Given the description of an element on the screen output the (x, y) to click on. 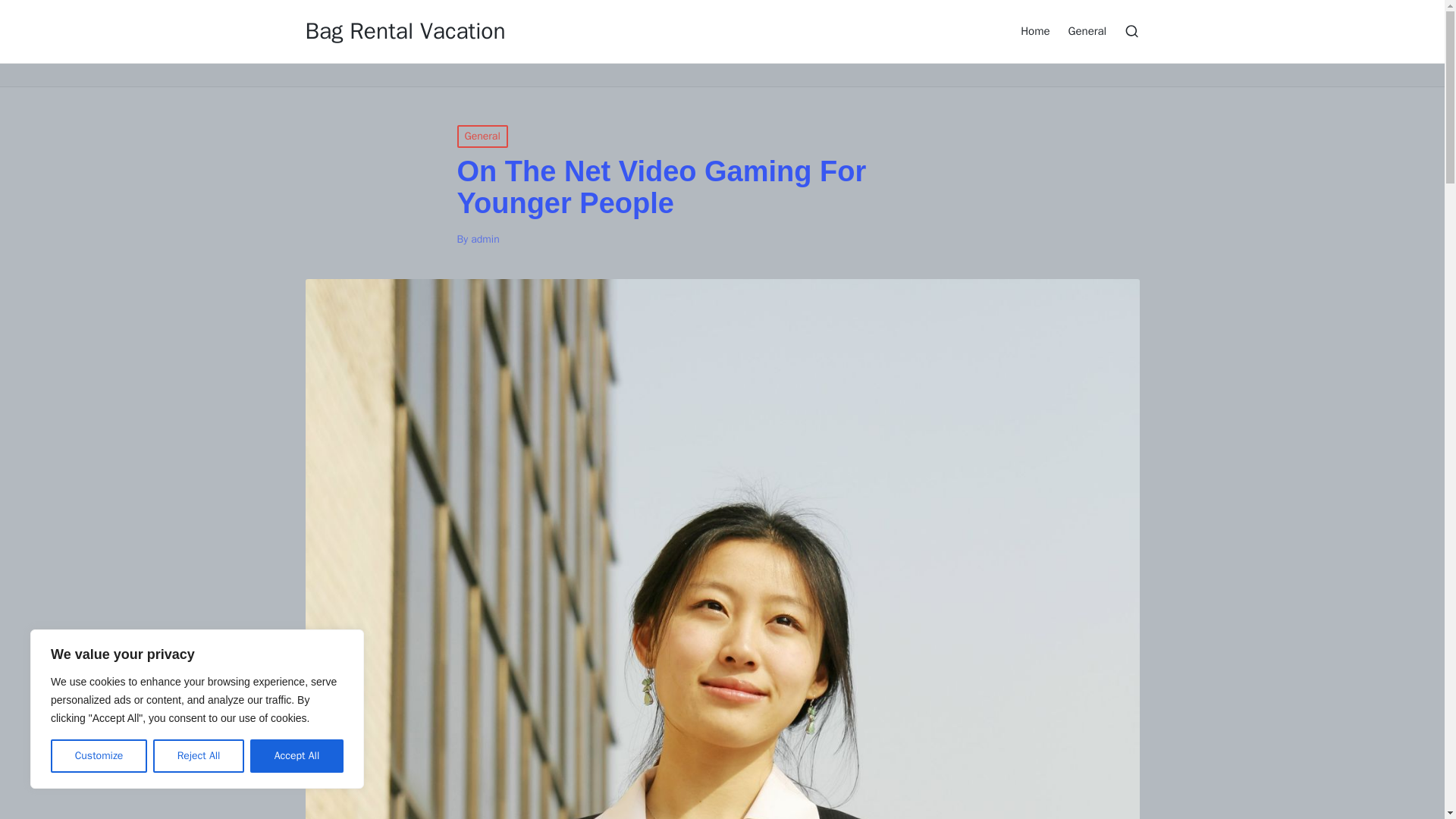
Bag Rental Vacation (404, 31)
General (481, 136)
General (1087, 30)
View all posts by  (484, 238)
Accept All (296, 756)
Home (1034, 30)
Reject All (198, 756)
Customize (98, 756)
admin (484, 238)
